Given the description of an element on the screen output the (x, y) to click on. 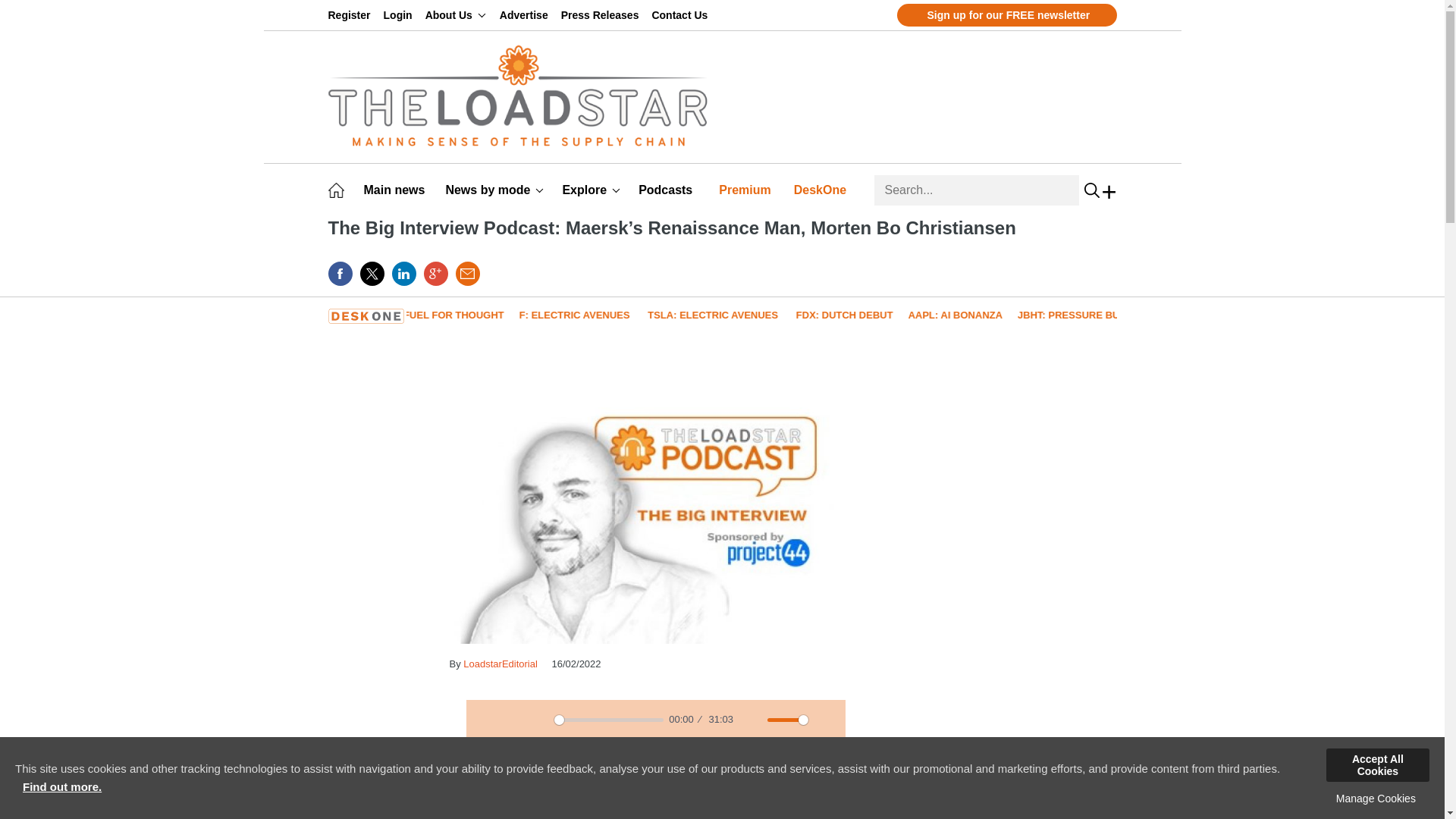
Register (351, 15)
0 (608, 719)
1 (787, 719)
Loadstar Premium (747, 190)
Advertise (526, 15)
Main news (397, 190)
Advertise (526, 15)
Contact Us (681, 15)
Press Releases (602, 15)
Contact Us (681, 15)
Premium (747, 190)
Sign up for our FREE newsletter (1006, 15)
Podcasts (668, 190)
Press Releases (602, 15)
Explore (591, 190)
